Given the description of an element on the screen output the (x, y) to click on. 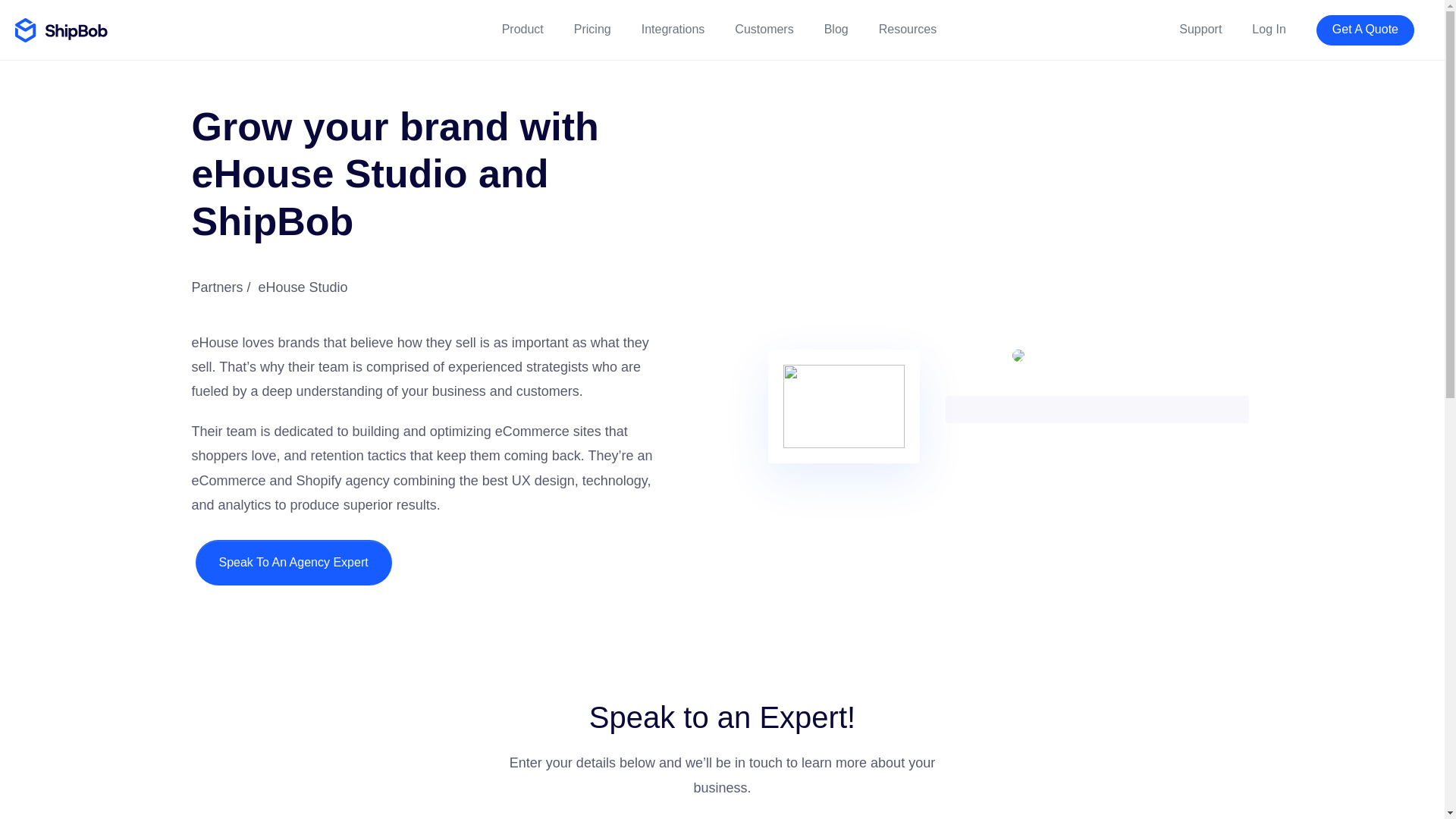
Log In (1268, 29)
Pricing (592, 29)
Speak To An Agency Expert (293, 562)
Product (522, 29)
Resources (907, 29)
Integrations (673, 29)
Get A Quote (1364, 30)
Support (1200, 29)
Blog (836, 29)
Customers (764, 29)
